Given the description of an element on the screen output the (x, y) to click on. 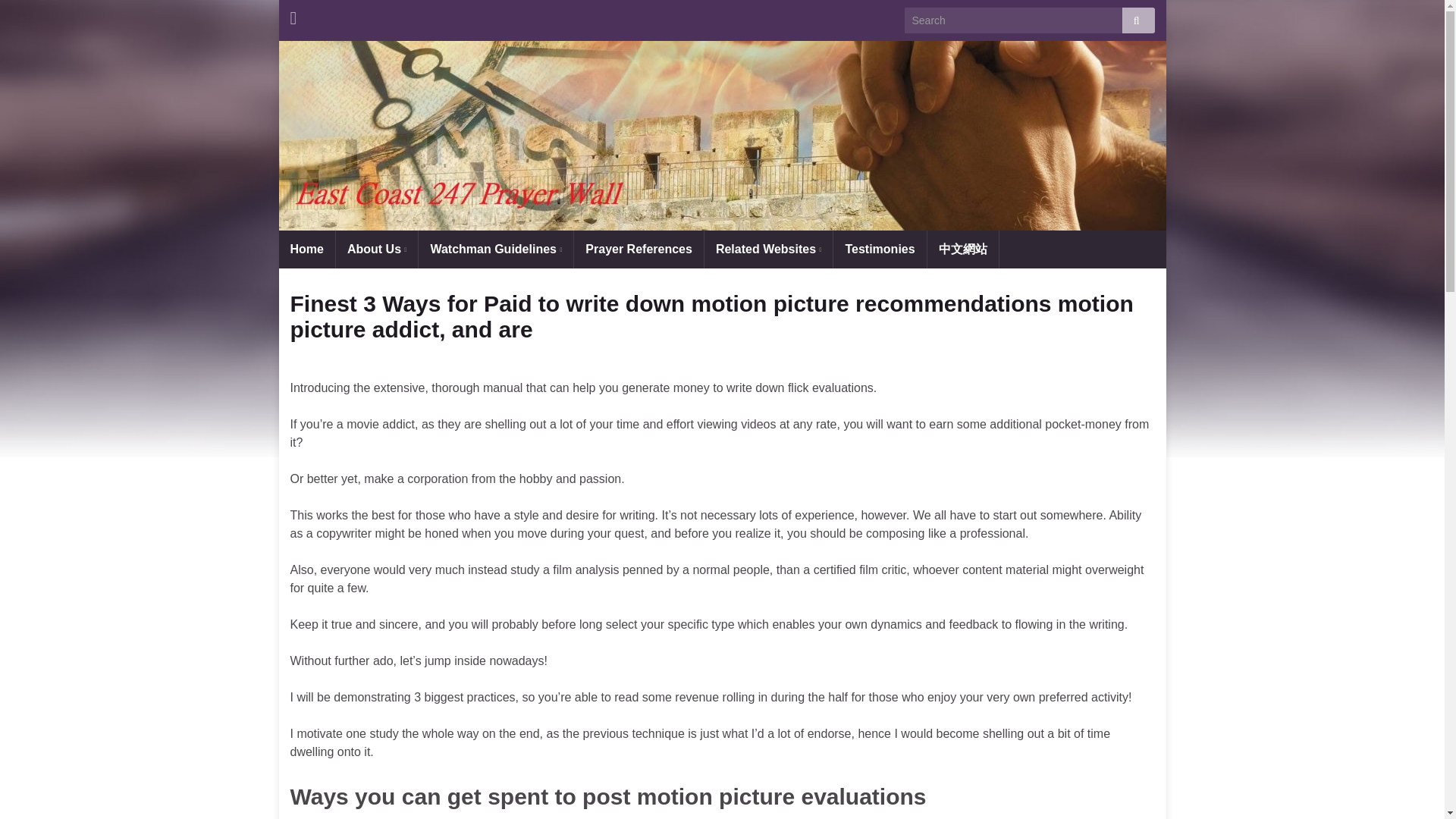
About Us (376, 249)
Prayer References (638, 249)
Testimonies (879, 249)
Watchman Guidelines (496, 249)
Related Websites (768, 249)
Home (306, 249)
